Given the description of an element on the screen output the (x, y) to click on. 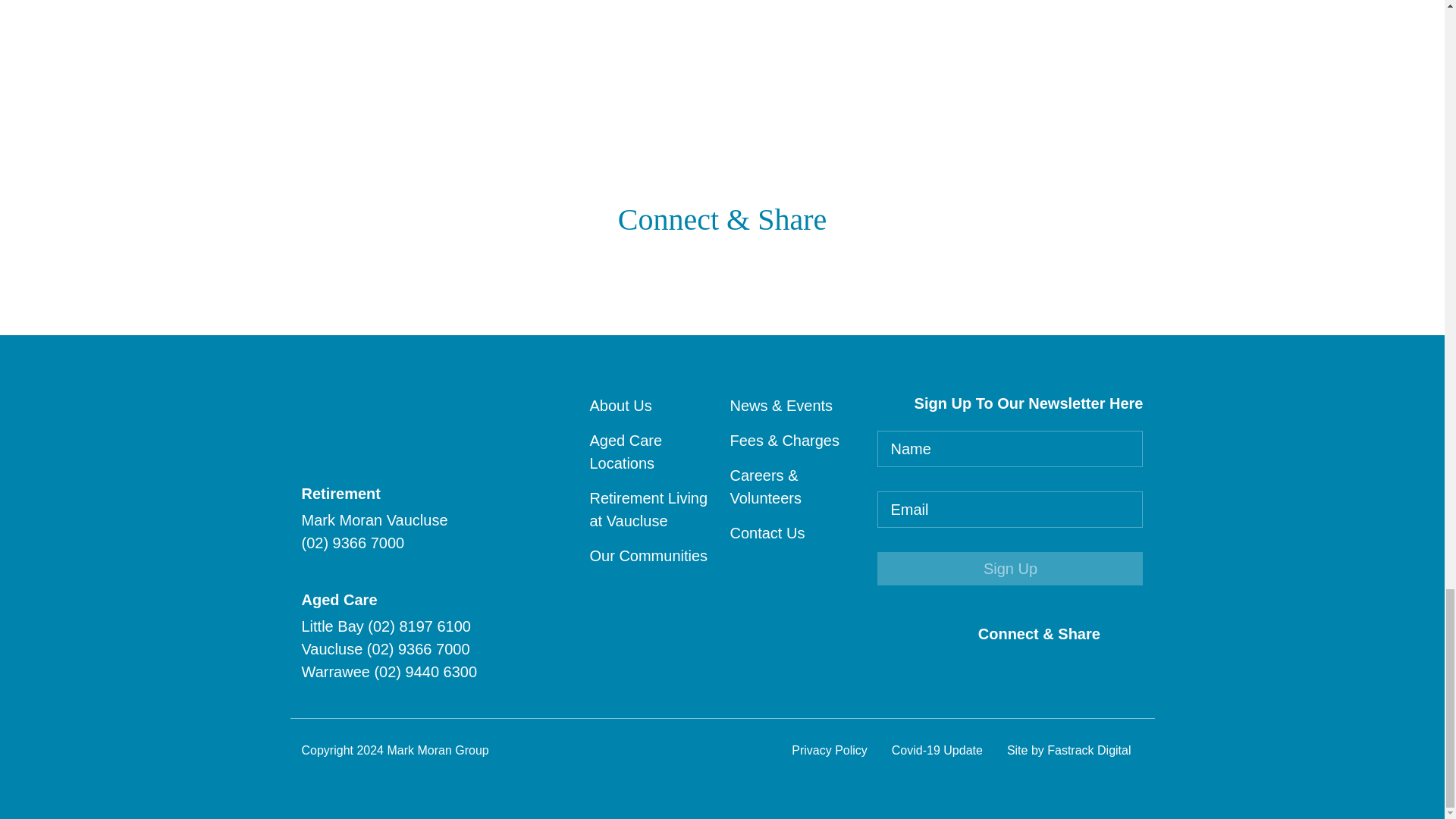
Our Communities (648, 555)
Retirement Living at Vaucluse (648, 509)
Aged Care Locations (625, 451)
About Us (619, 405)
